Given the description of an element on the screen output the (x, y) to click on. 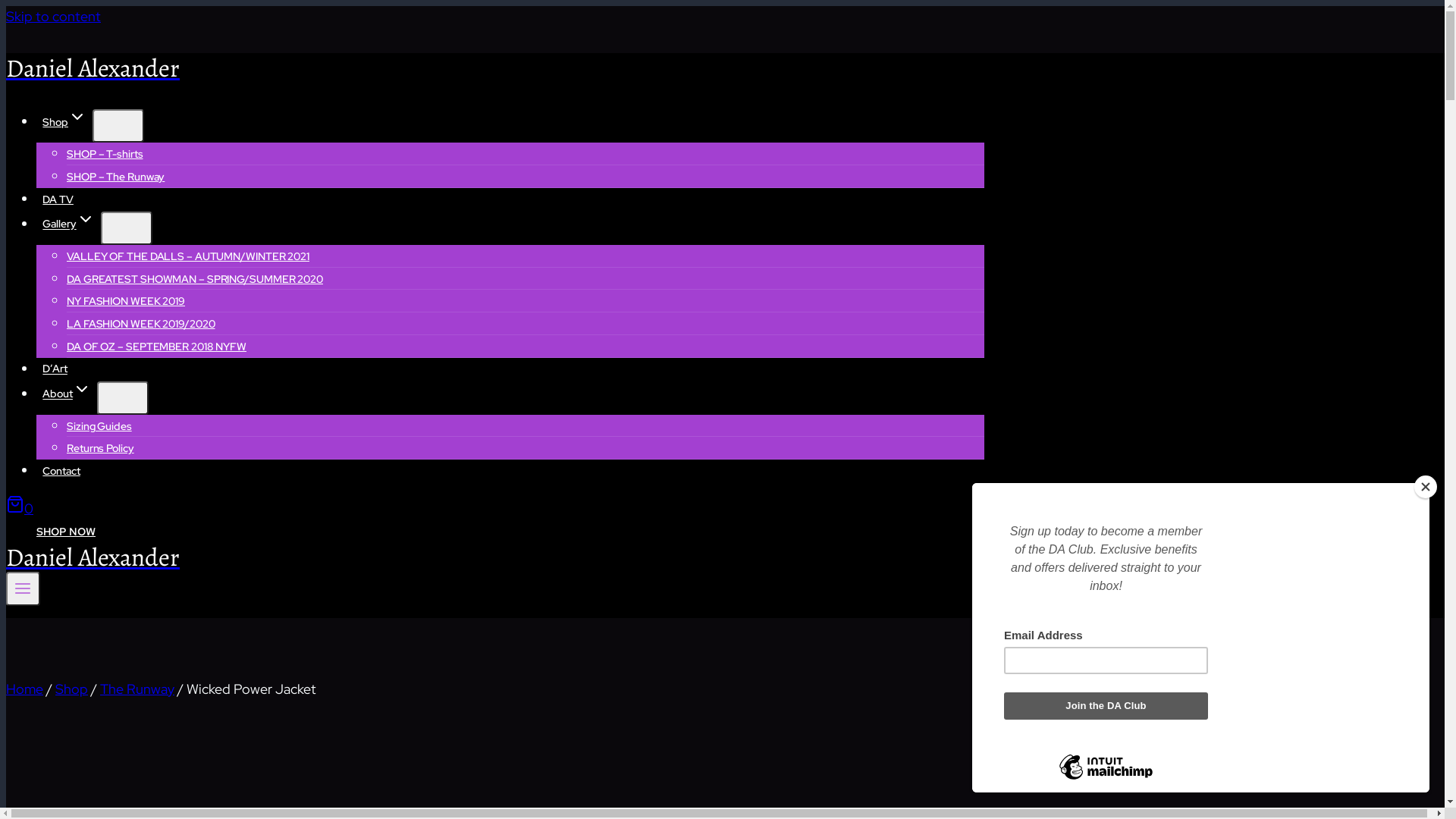
GalleryExpand Element type: text (68, 223)
DA TV Element type: text (57, 199)
Returns Policy Element type: text (100, 447)
TOGGLE MENU Element type: text (23, 588)
ShopExpand Element type: text (64, 122)
Shopping Cart 0 Element type: text (19, 508)
Sizing Guides Element type: text (98, 425)
Home Element type: text (24, 688)
The Runway Element type: text (137, 688)
Shop Element type: text (71, 688)
NY FASHION WEEK 2019 Element type: text (125, 300)
AboutExpand Element type: text (66, 393)
Contact Element type: text (61, 471)
Skip to content Element type: text (53, 16)
LA FASHION WEEK 2019/2020 Element type: text (140, 323)
Daniel Alexander Element type: text (495, 68)
Daniel Alexander Element type: text (495, 557)
SHOP NOW Element type: text (65, 531)
